Given the description of an element on the screen output the (x, y) to click on. 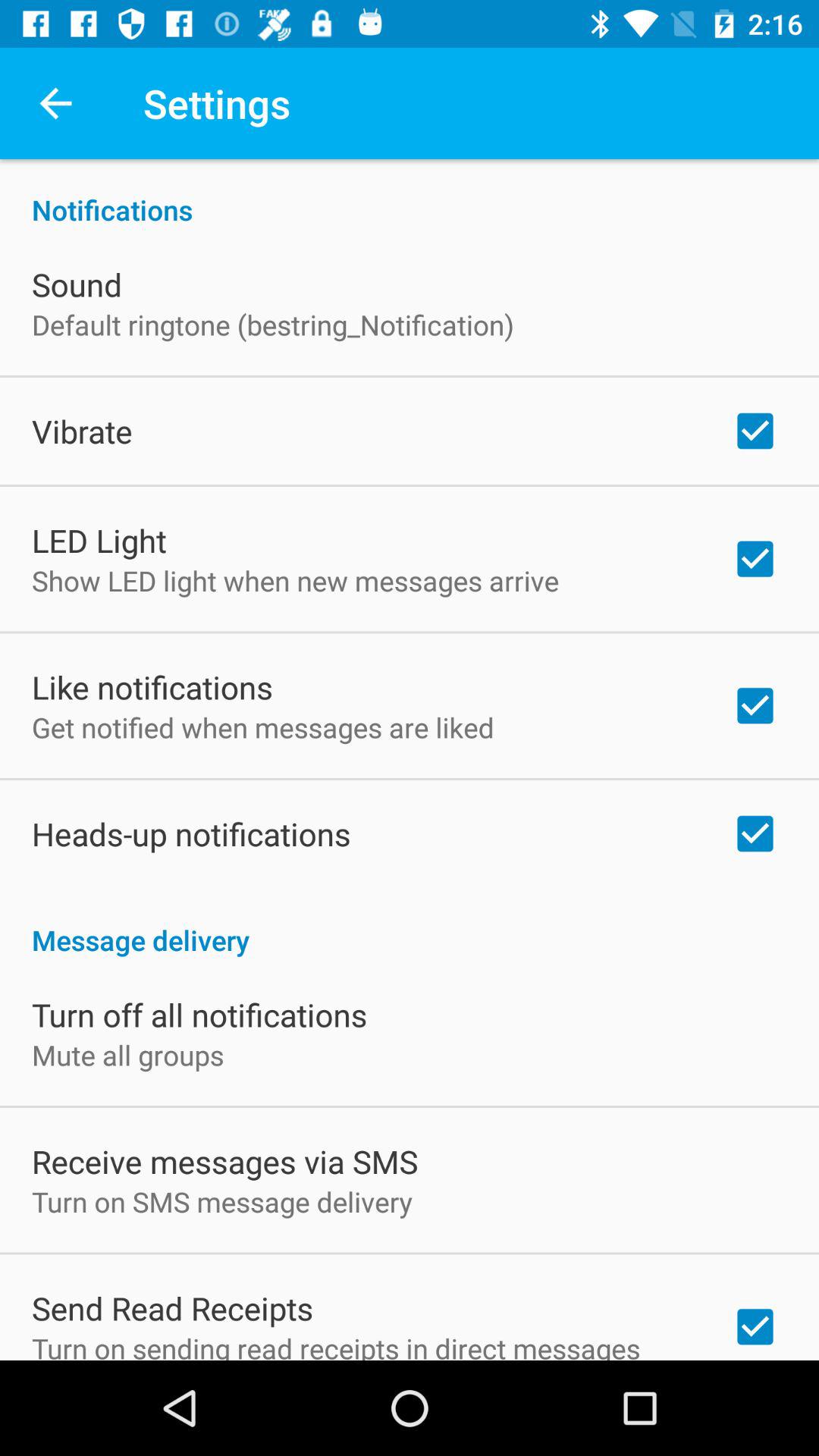
press the heads-up notifications item (190, 833)
